Given the description of an element on the screen output the (x, y) to click on. 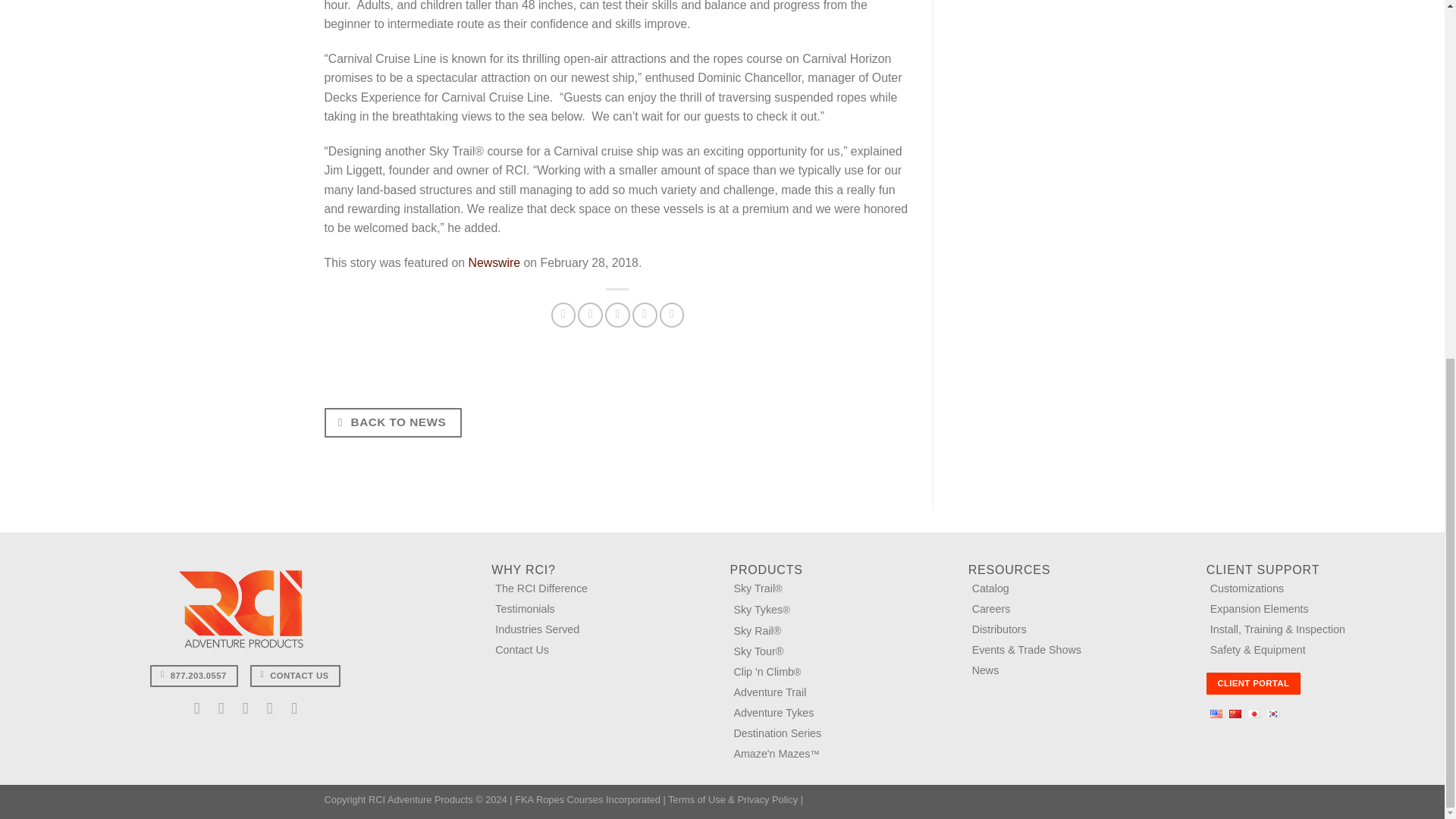
Email to a Friend (617, 314)
Share on LinkedIn (671, 314)
Pin on Pinterest (644, 314)
Share on Facebook (563, 314)
Share on Twitter (590, 314)
